Given the description of an element on the screen output the (x, y) to click on. 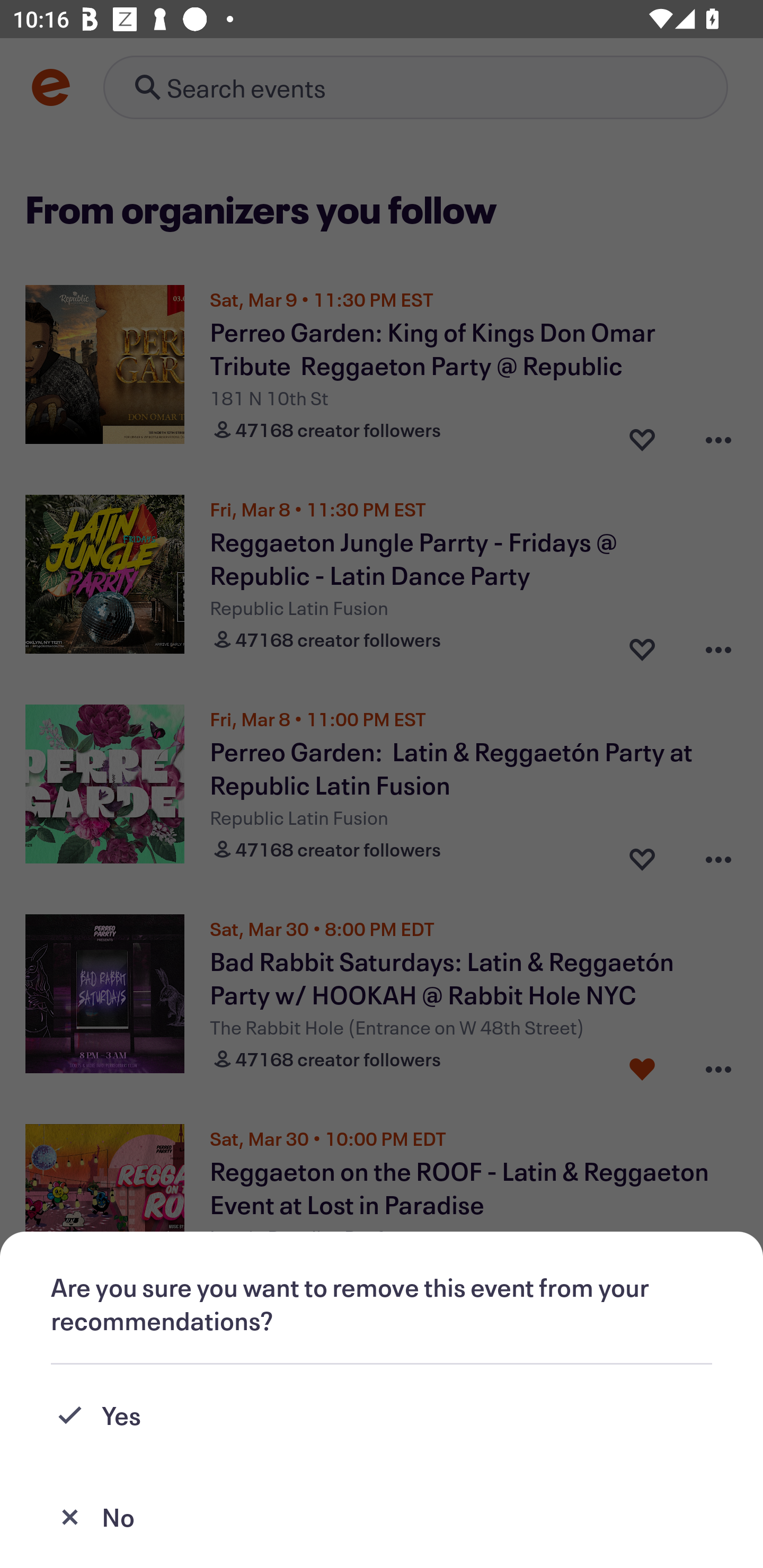
Yes (381, 1415)
No (381, 1517)
